Given the description of an element on the screen output the (x, y) to click on. 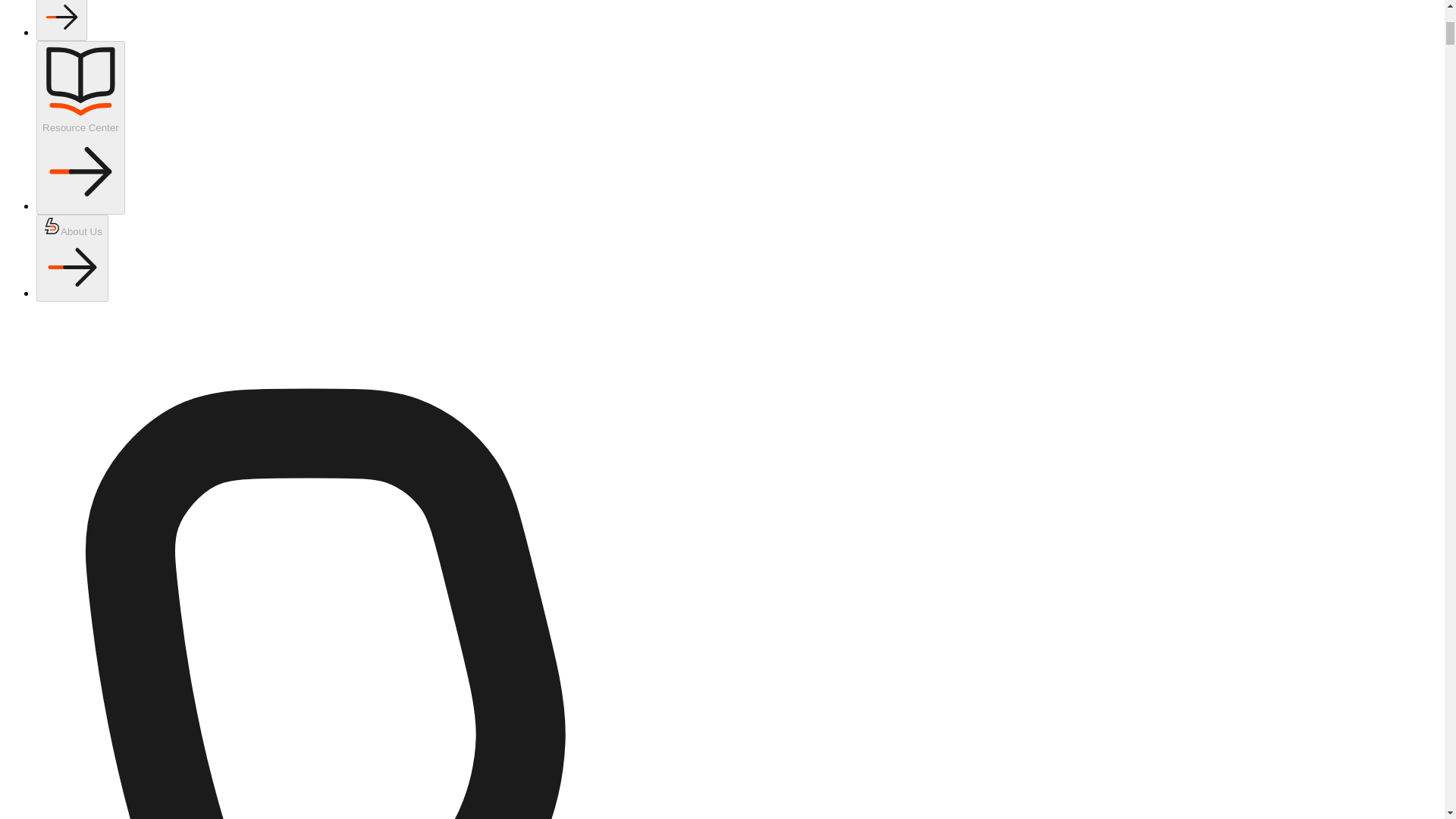
Resource Center (80, 127)
About Us (71, 258)
Services (61, 20)
